Given the description of an element on the screen output the (x, y) to click on. 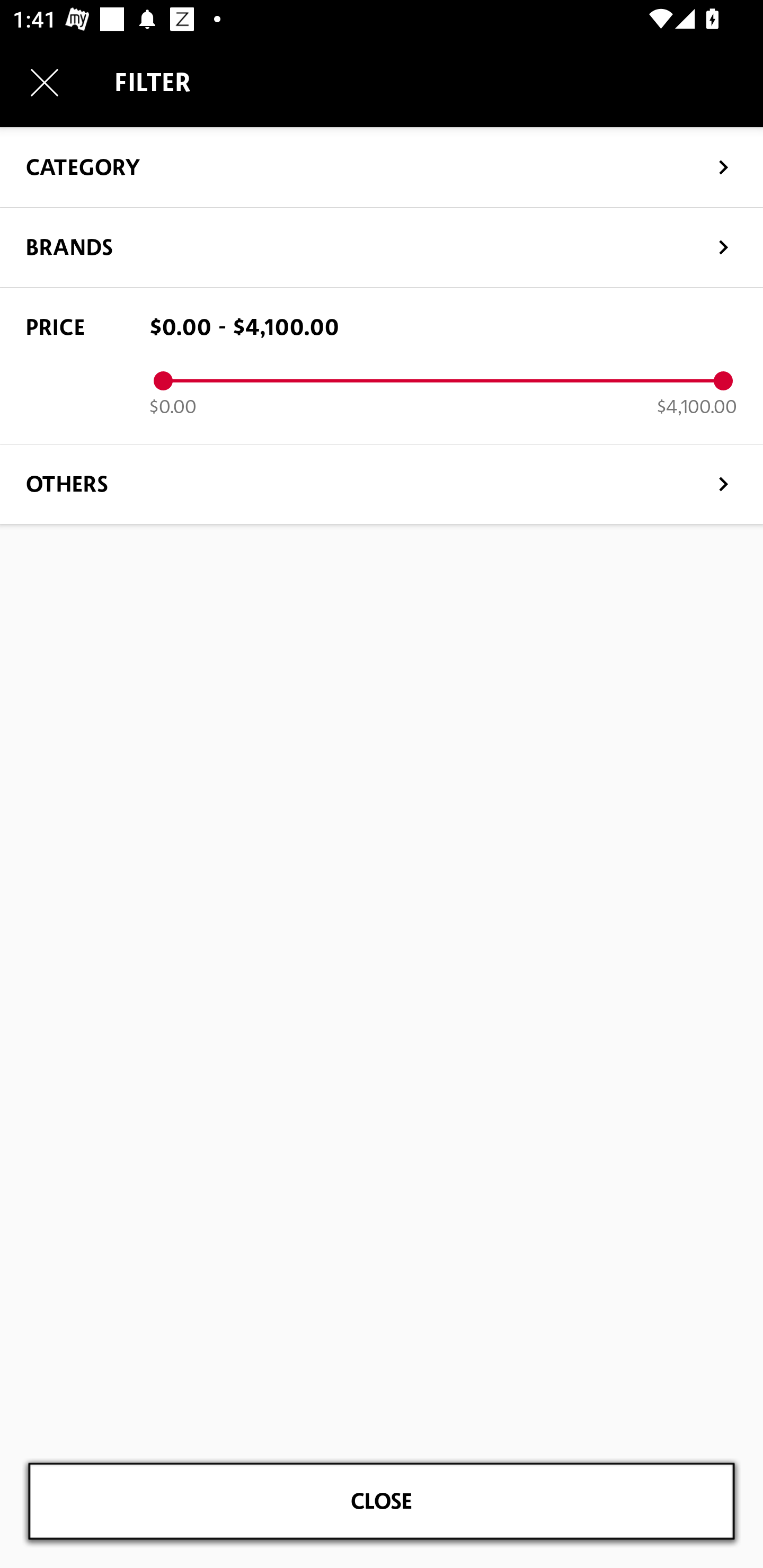
Navigate up (44, 82)
CATEGORY (381, 166)
BRANDS (381, 246)
OTHERS (381, 483)
CLOSE (381, 1501)
